Given the description of an element on the screen output the (x, y) to click on. 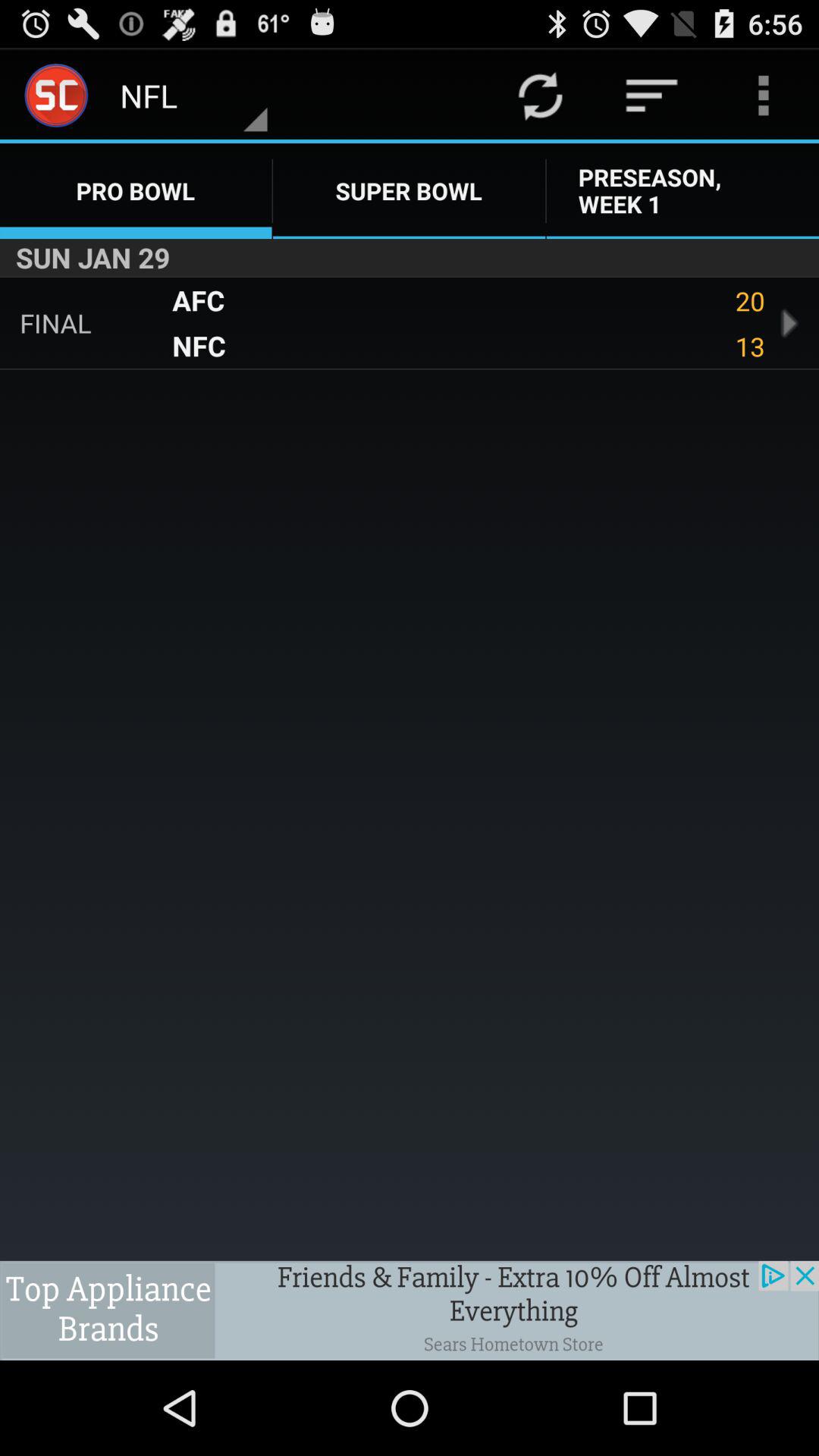
for add (409, 1310)
